Given the description of an element on the screen output the (x, y) to click on. 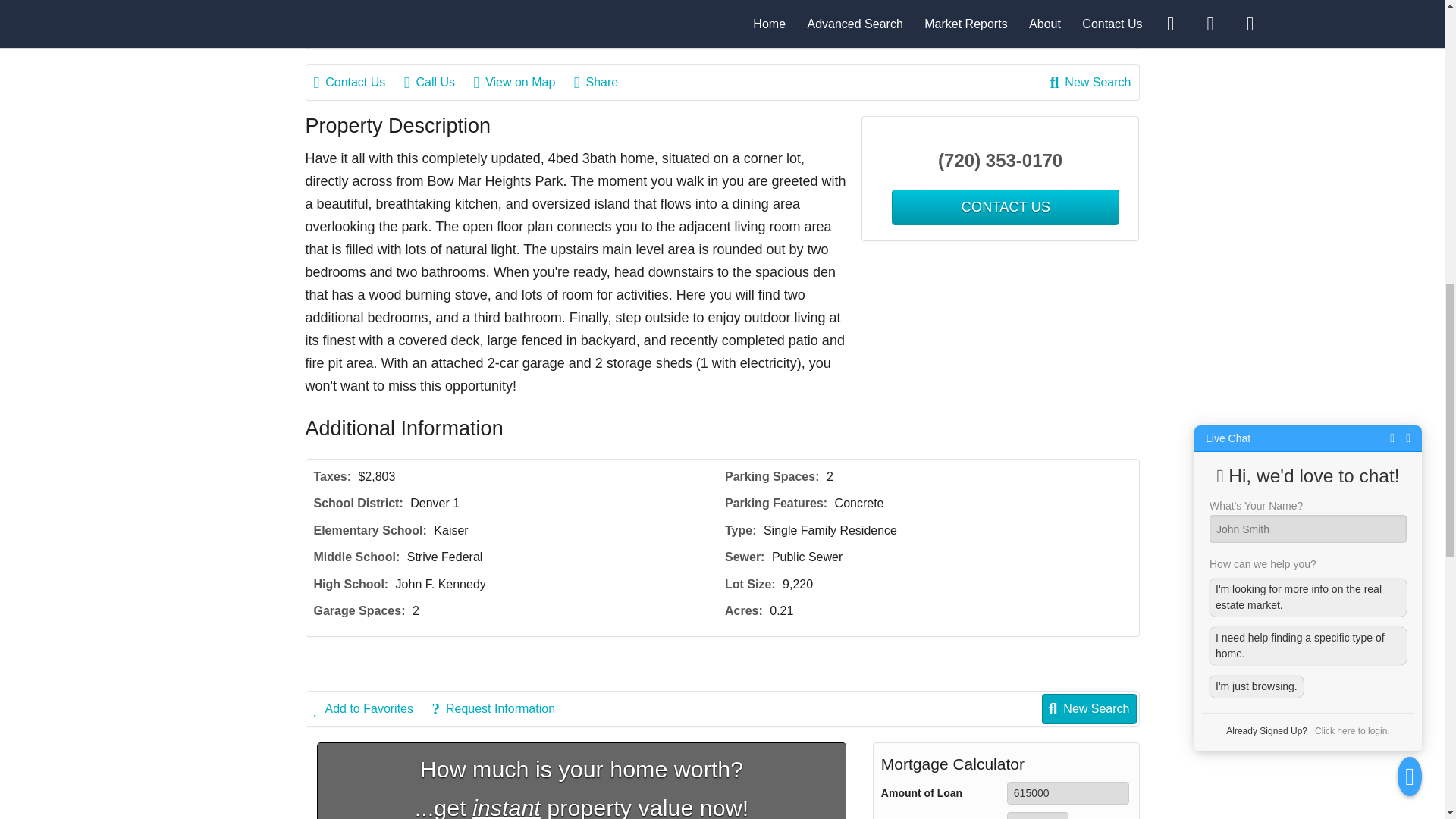
View on Map (521, 82)
Contact Us (357, 82)
Share (603, 82)
New Search (1090, 82)
615000 (1068, 793)
Call Us (437, 82)
6 (1037, 815)
CONTACT US (1005, 207)
